Given the description of an element on the screen output the (x, y) to click on. 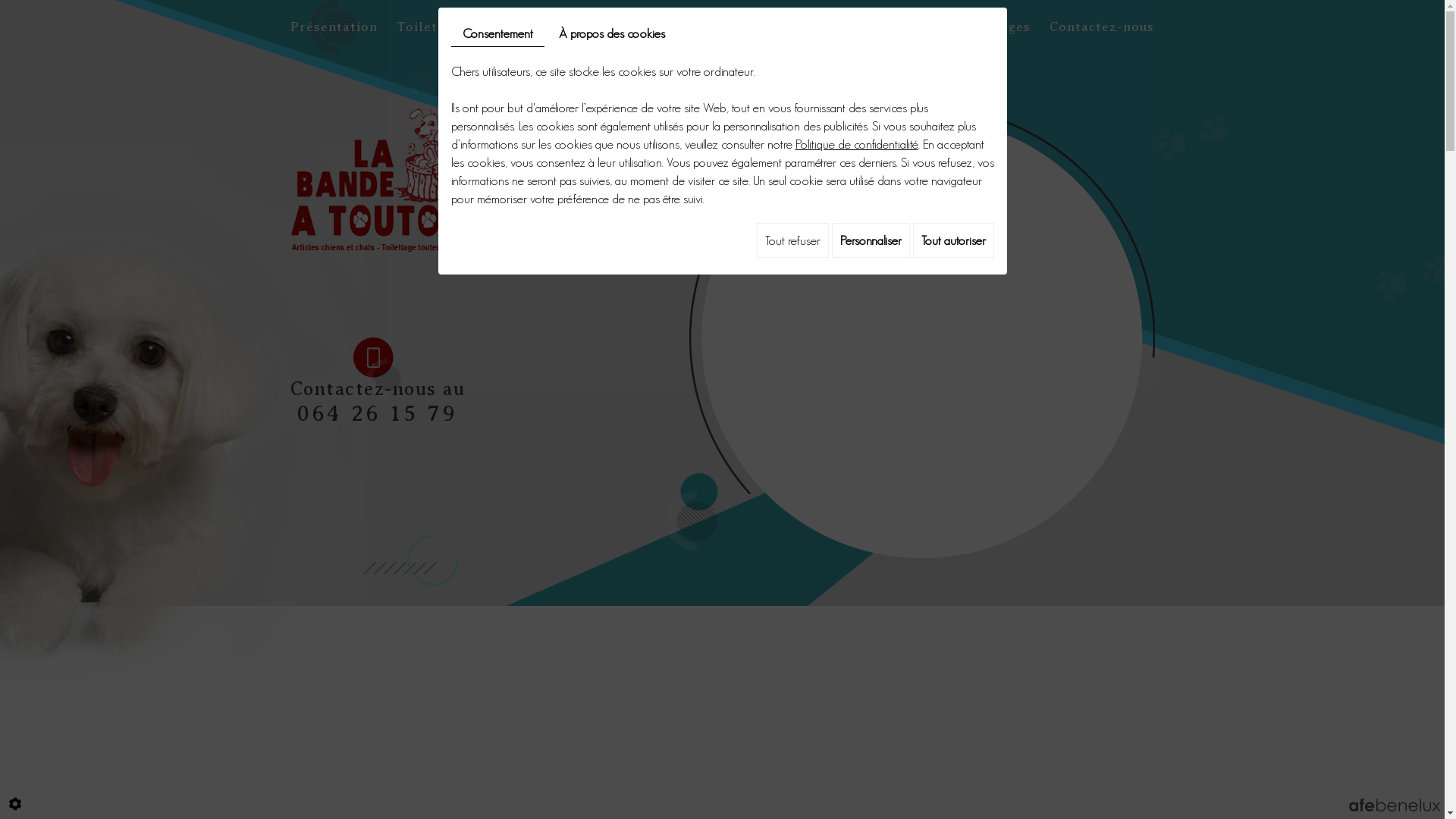
Consentement Element type: text (496, 33)
Contactez-nous au Element type: text (376, 388)
Personnaliser Element type: text (870, 239)
Dog wash Element type: text (517, 26)
Tout autoriser Element type: text (953, 239)
Contactez-nous Element type: text (1101, 26)
Toilettage Element type: text (431, 26)
Accessoires pour chiens Element type: text (648, 26)
064 26 15 79 Element type: text (377, 413)
Tout refuser Element type: text (792, 239)
